Given the description of an element on the screen output the (x, y) to click on. 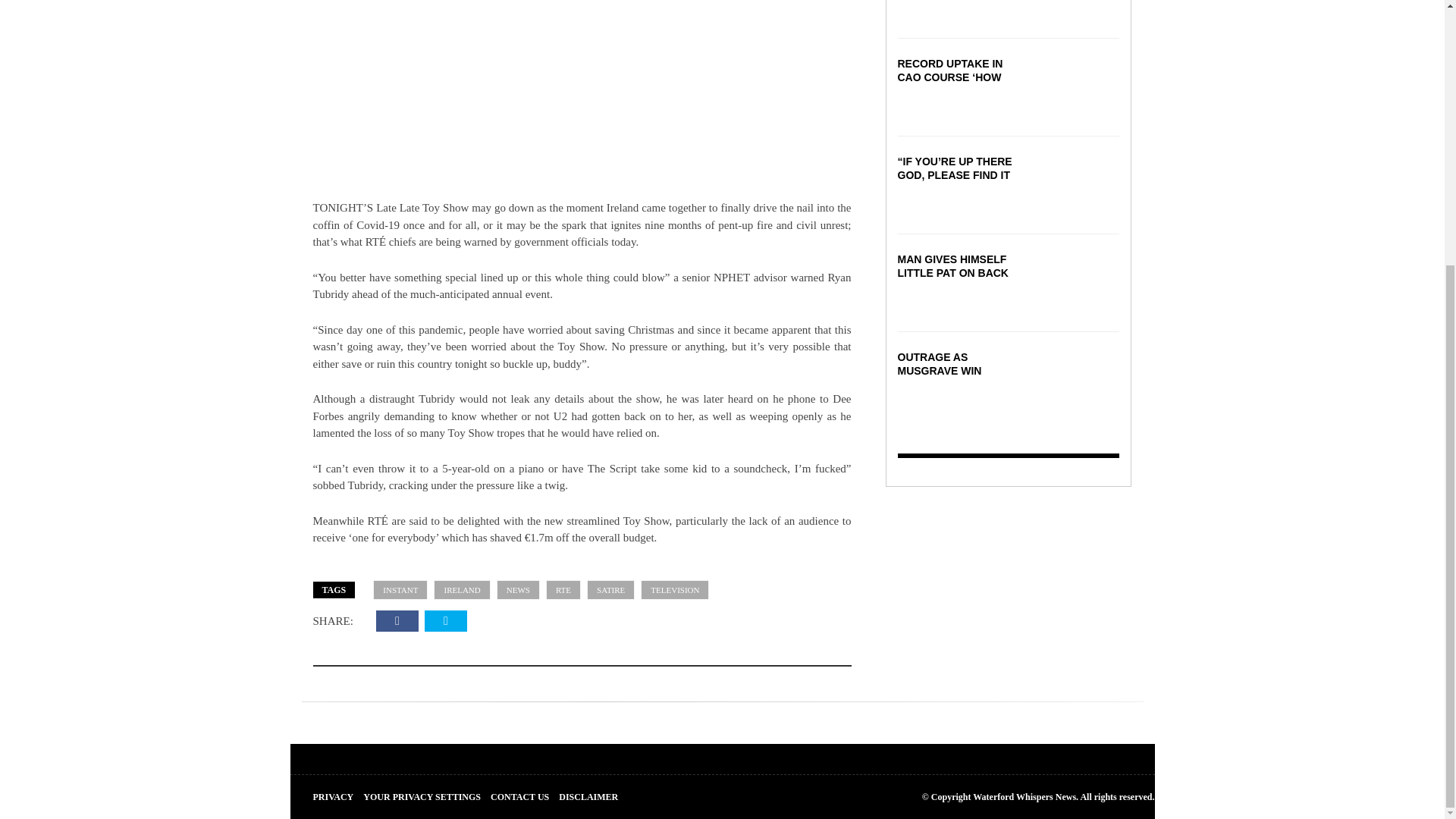
View all posts tagged instant (400, 589)
View all posts tagged television (674, 589)
View all posts tagged news (518, 589)
View all posts tagged satire (610, 589)
View all posts tagged ireland (461, 589)
View all posts tagged rte (563, 589)
